Given the description of an element on the screen output the (x, y) to click on. 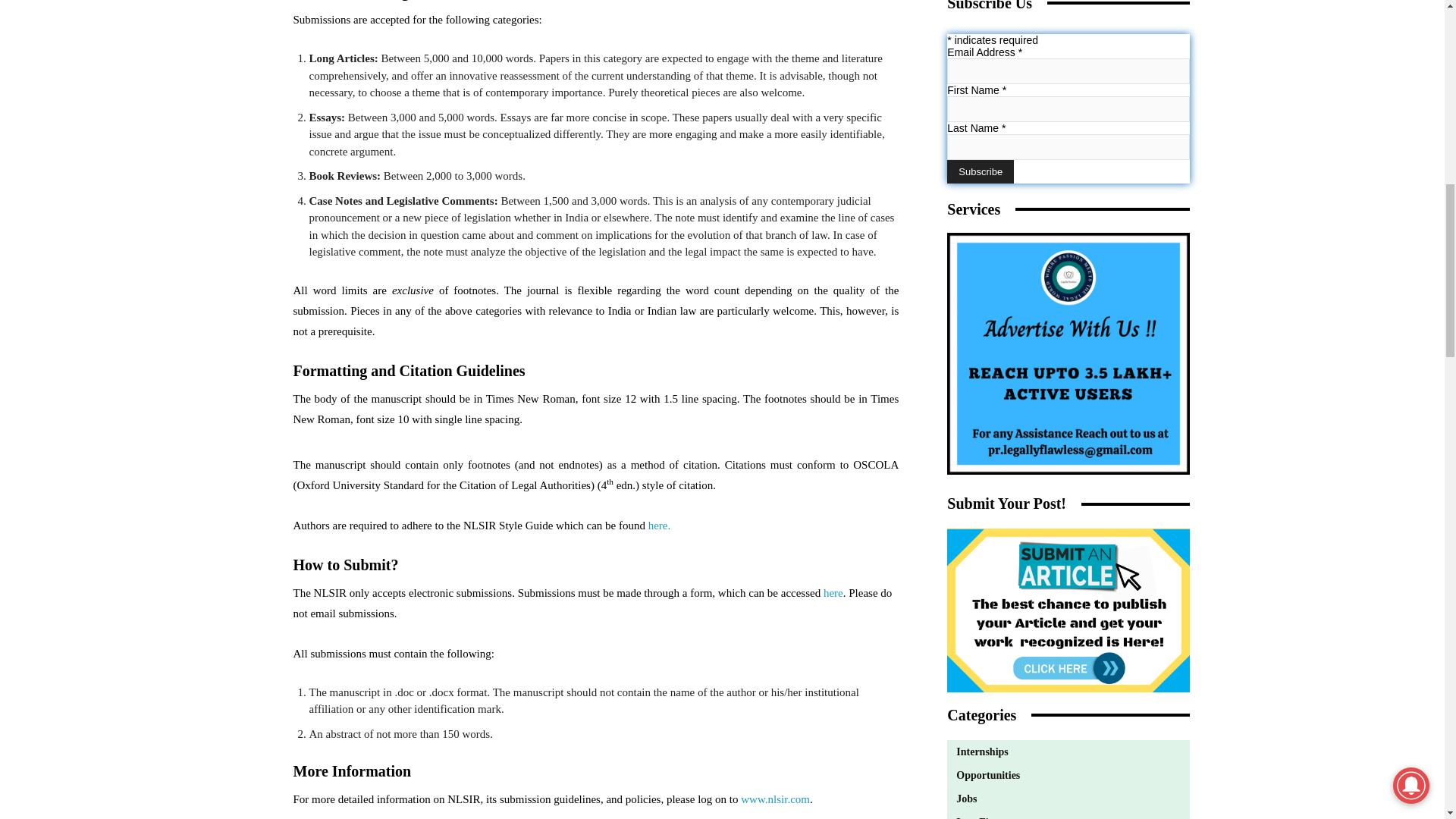
Subscribe (980, 171)
